Given the description of an element on the screen output the (x, y) to click on. 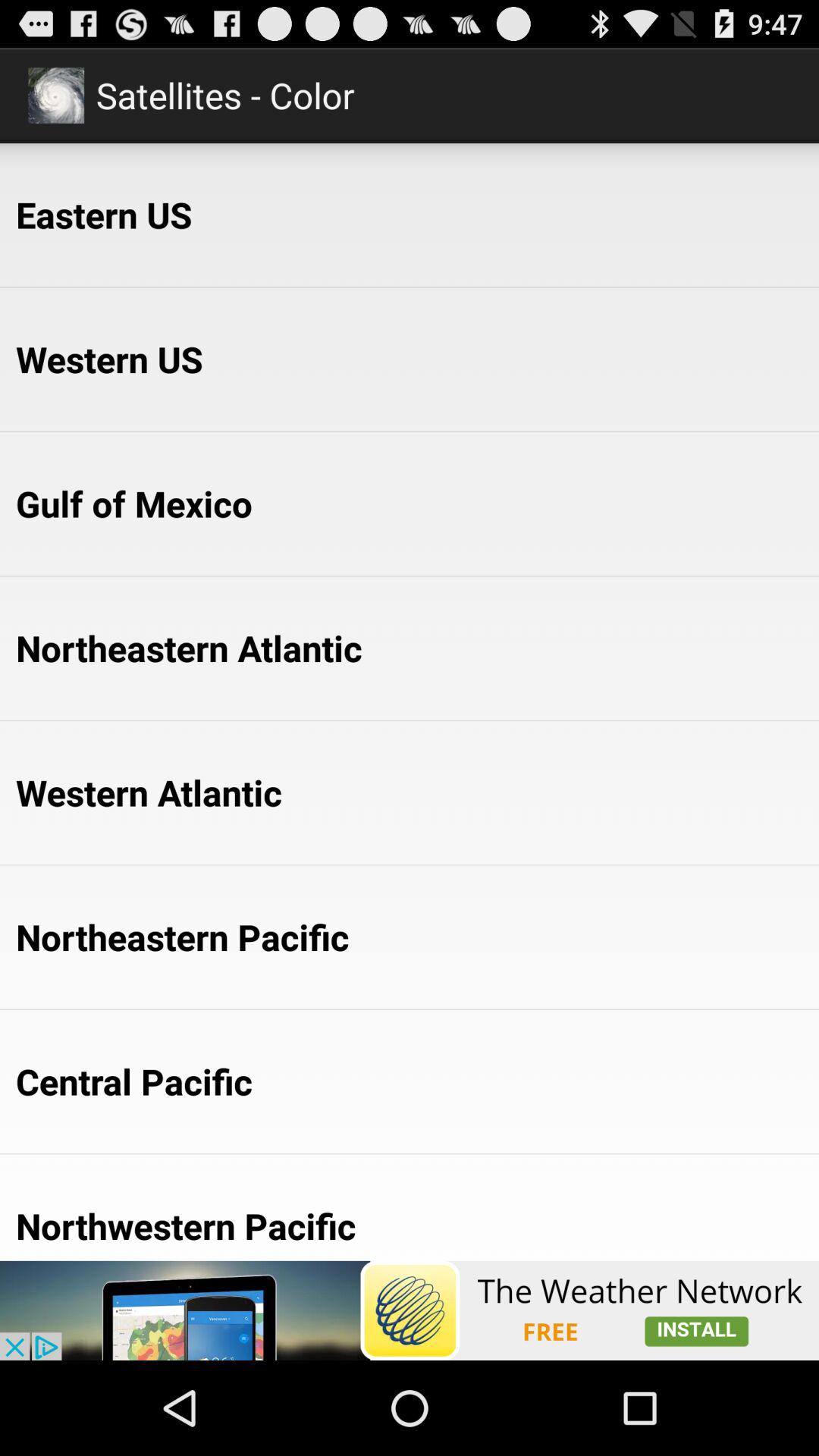
click to the app (409, 1310)
